Given the description of an element on the screen output the (x, y) to click on. 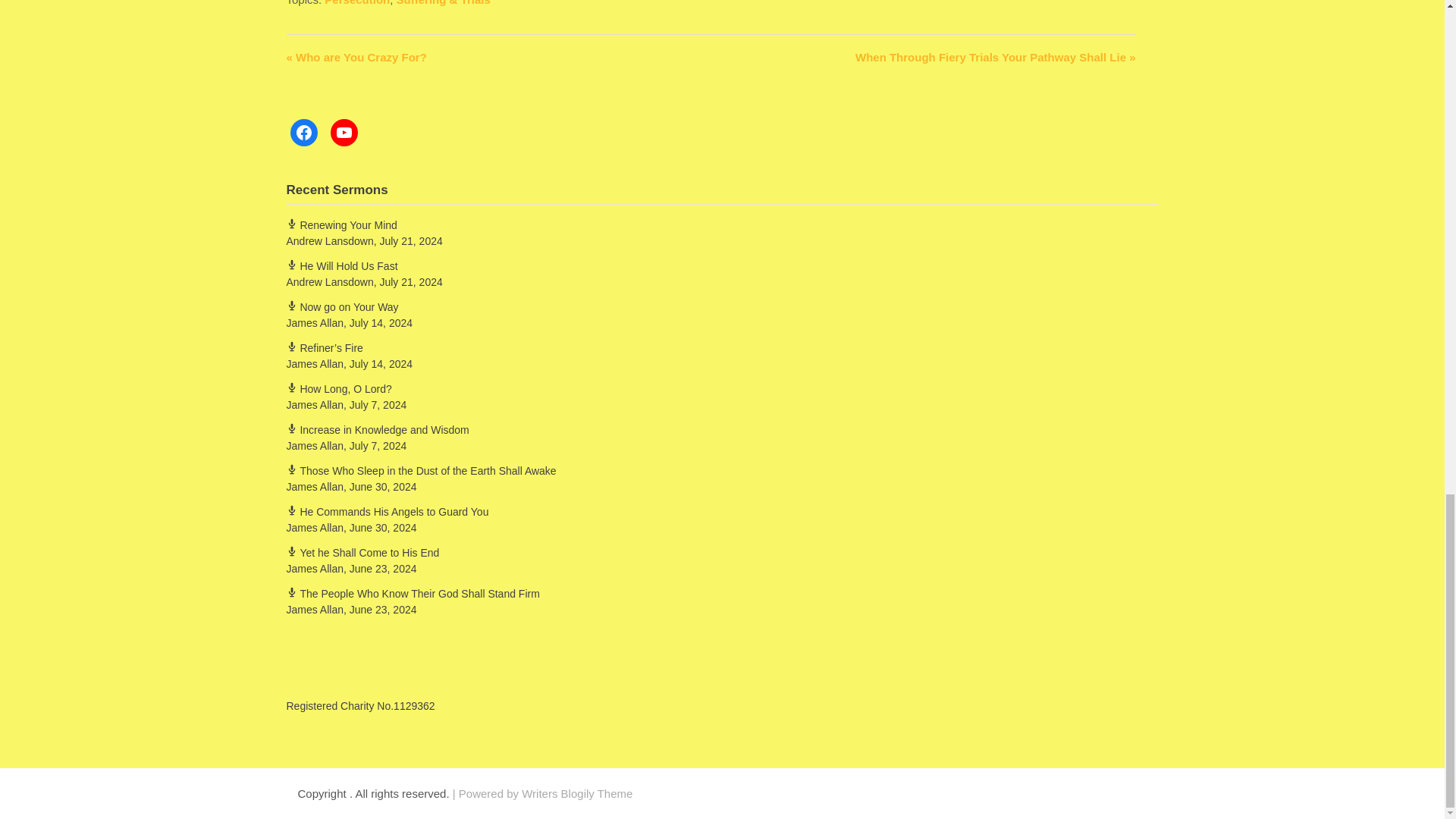
How Long, O Lord? (338, 388)
He Commands His Angels to Guard You (387, 511)
Now go on Your Way (342, 306)
The People Who Know Their God Shall Stand Firm (413, 593)
Those Who Sleep in the Dust of the Earth Shall Awake (421, 470)
Increase in Knowledge and Wisdom (377, 429)
Renewing Your Mind (341, 224)
He Will Hold Us Fast (341, 265)
Yet he Shall Come to His End (362, 552)
Persecution (357, 2)
